Given the description of an element on the screen output the (x, y) to click on. 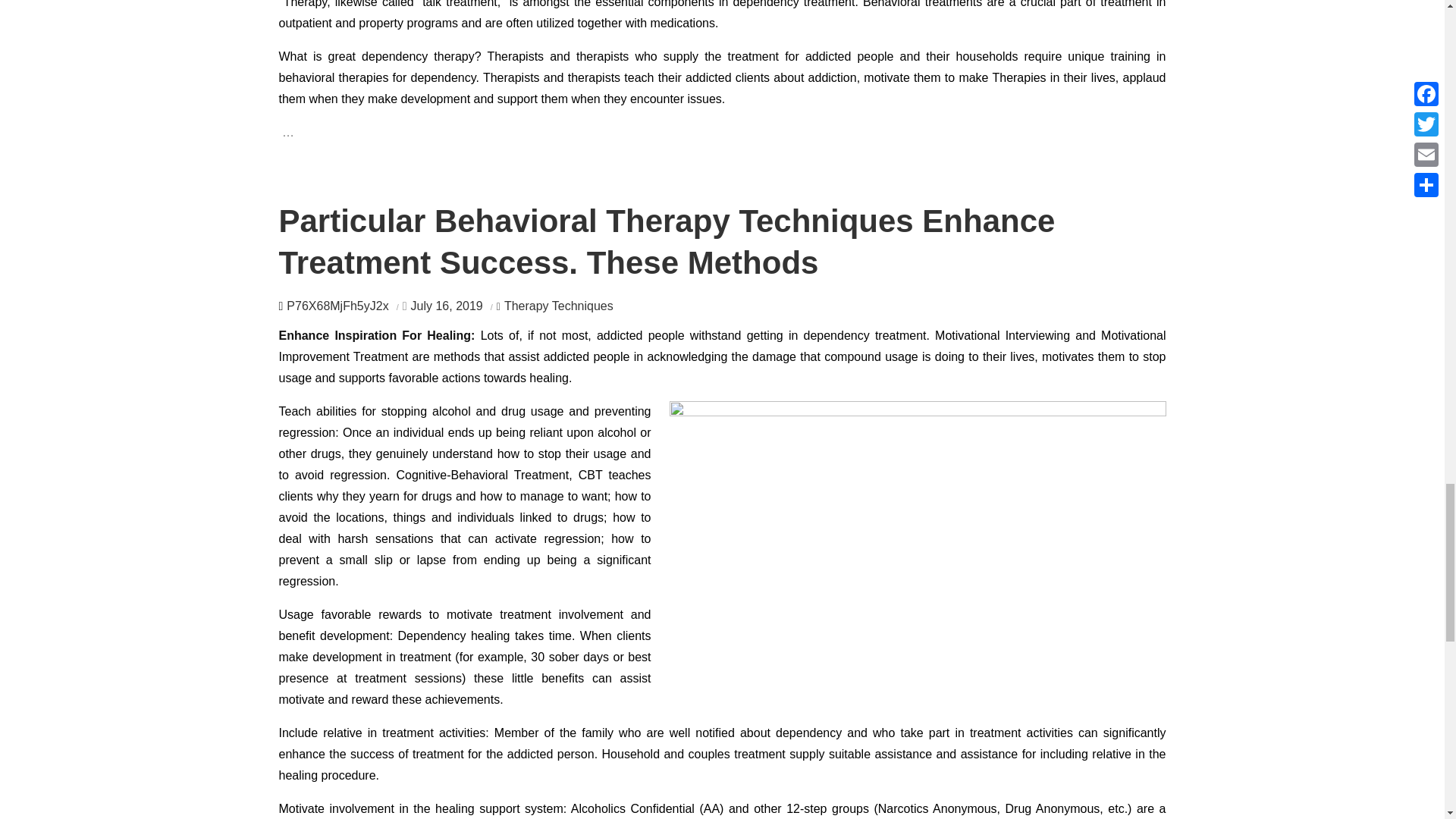
Therapy Techniques (554, 305)
July 16, 2019 (446, 305)
P76X68MjFh5yJ2x (337, 305)
